Given the description of an element on the screen output the (x, y) to click on. 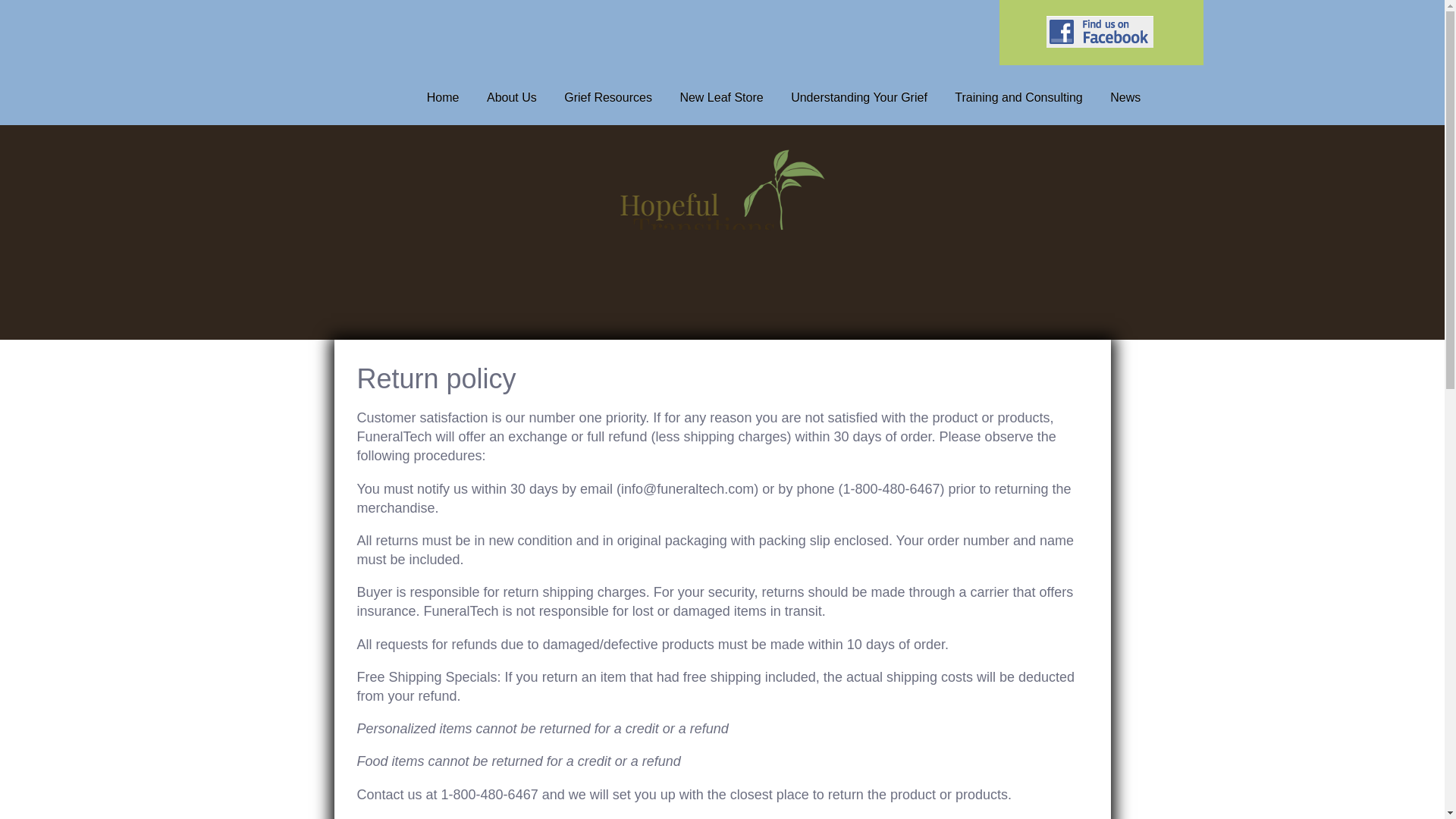
News (1125, 97)
New Leaf Store (721, 97)
Home (442, 97)
Understanding Your Grief (858, 97)
About Us (512, 97)
Training and Consulting (1018, 97)
Grief Resources (608, 97)
